Given the description of an element on the screen output the (x, y) to click on. 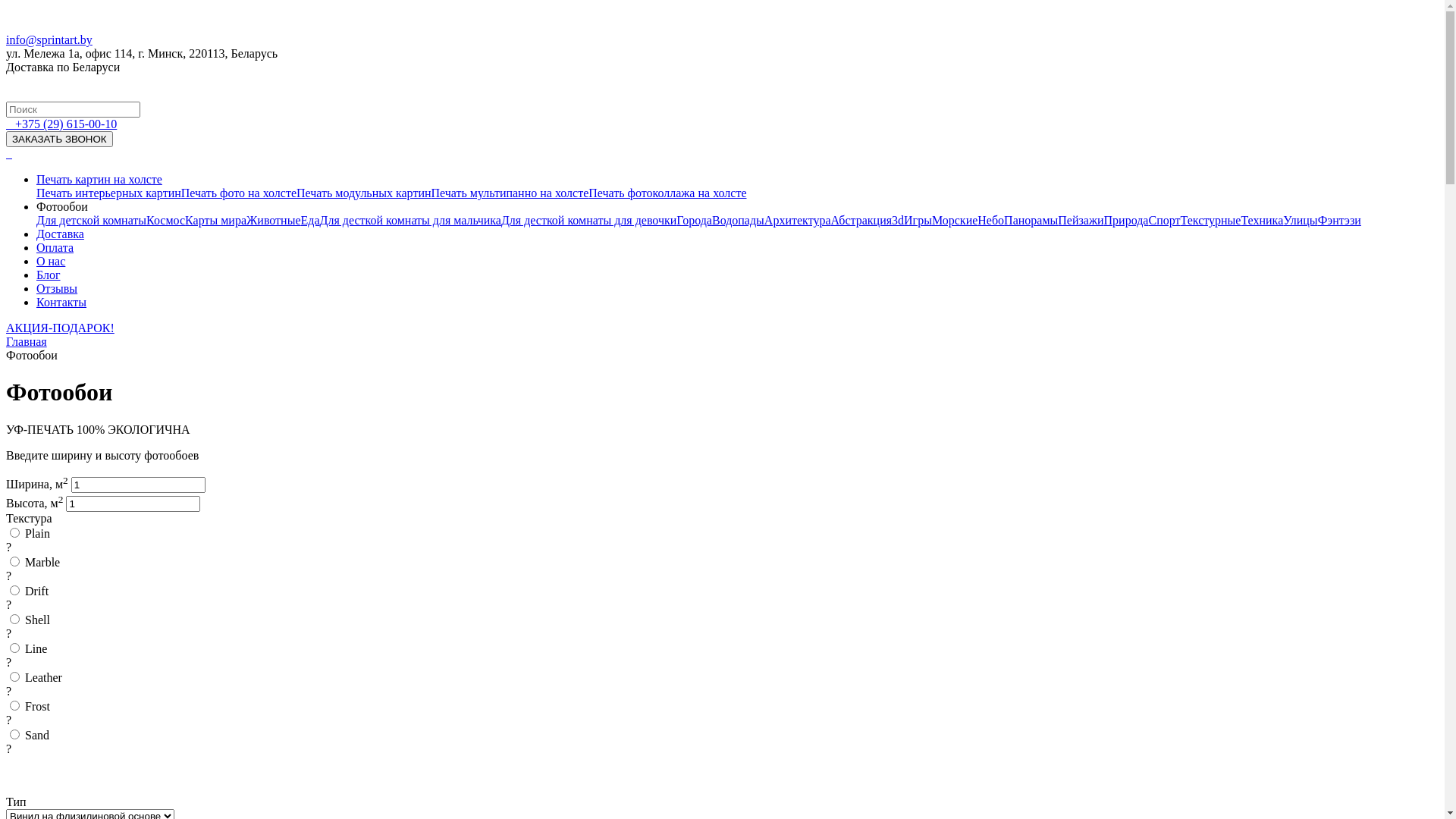
3d Element type: text (897, 219)
+375 (29) 615-00-10 Element type: text (65, 123)
info@sprintart.by Element type: text (49, 39)
